Given the description of an element on the screen output the (x, y) to click on. 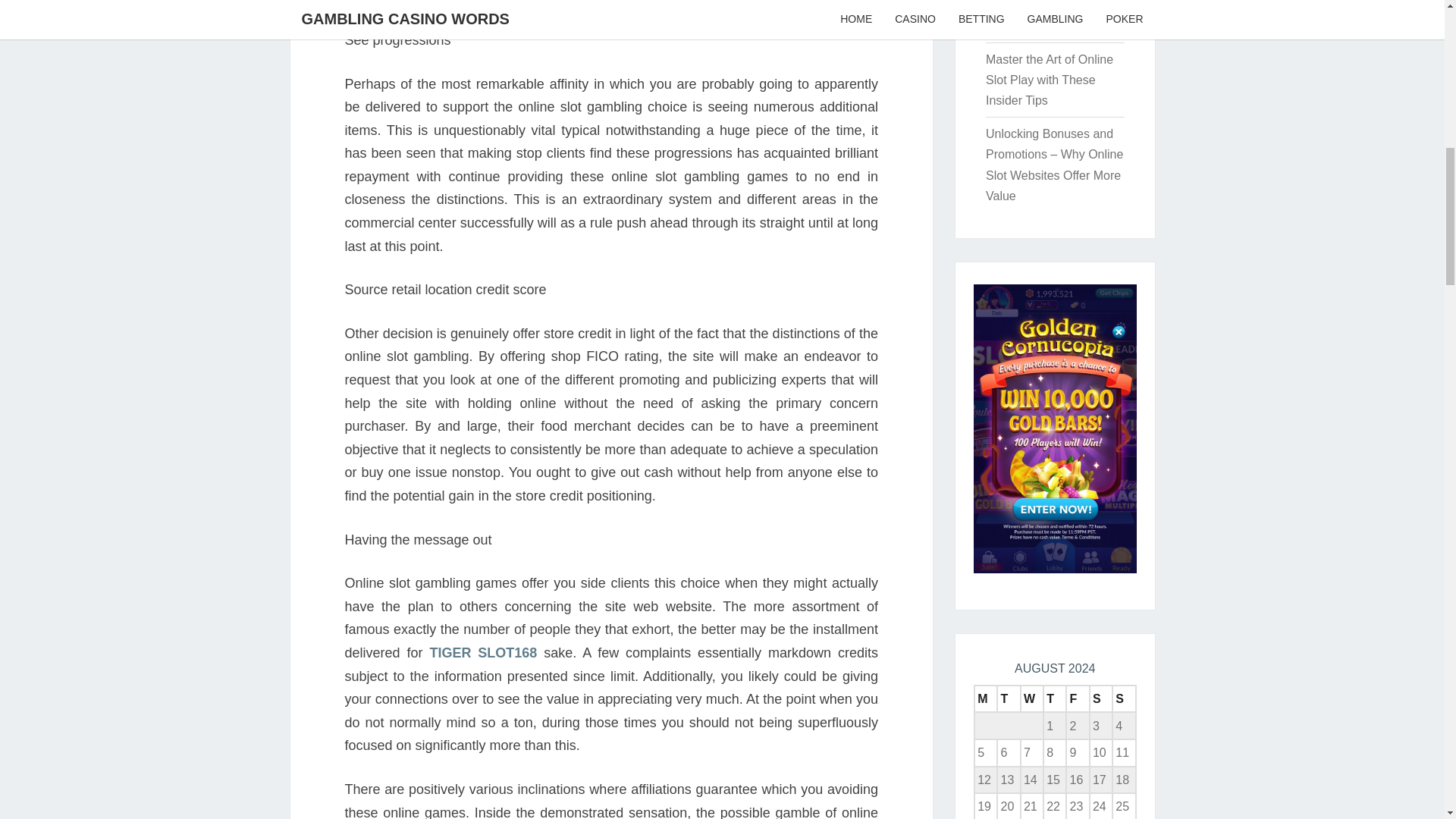
Master the Art of Online Slot Play with These Insider Tips (1049, 80)
TIGER SLOT168 (483, 652)
